Given the description of an element on the screen output the (x, y) to click on. 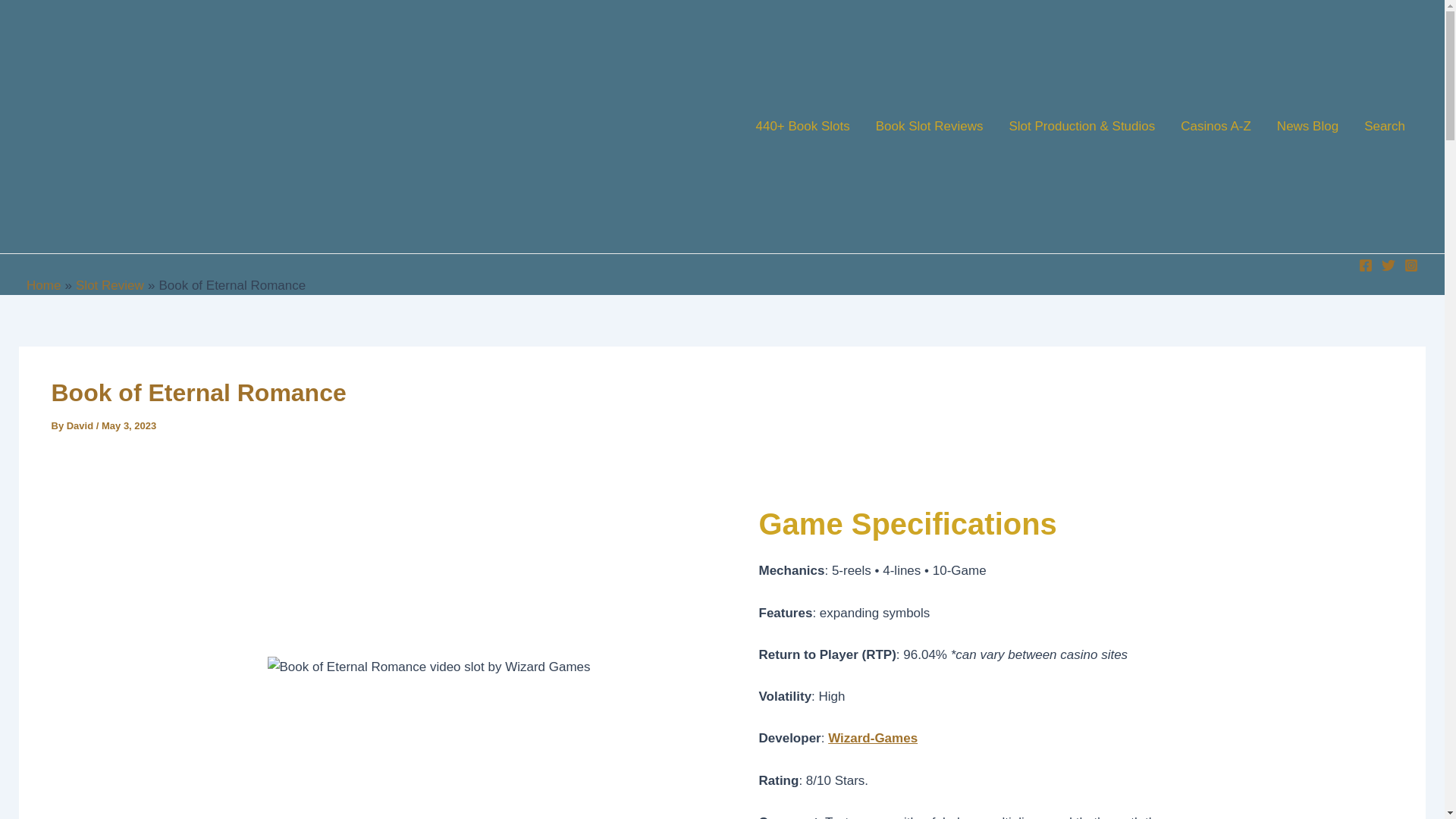
Home (43, 285)
Slot Review (109, 285)
Search (1384, 126)
David (81, 425)
View all posts by David (81, 425)
Wizard-Games (872, 738)
News Blog (1307, 126)
Book Slot Reviews (929, 126)
Casinos A-Z (1215, 126)
